Given the description of an element on the screen output the (x, y) to click on. 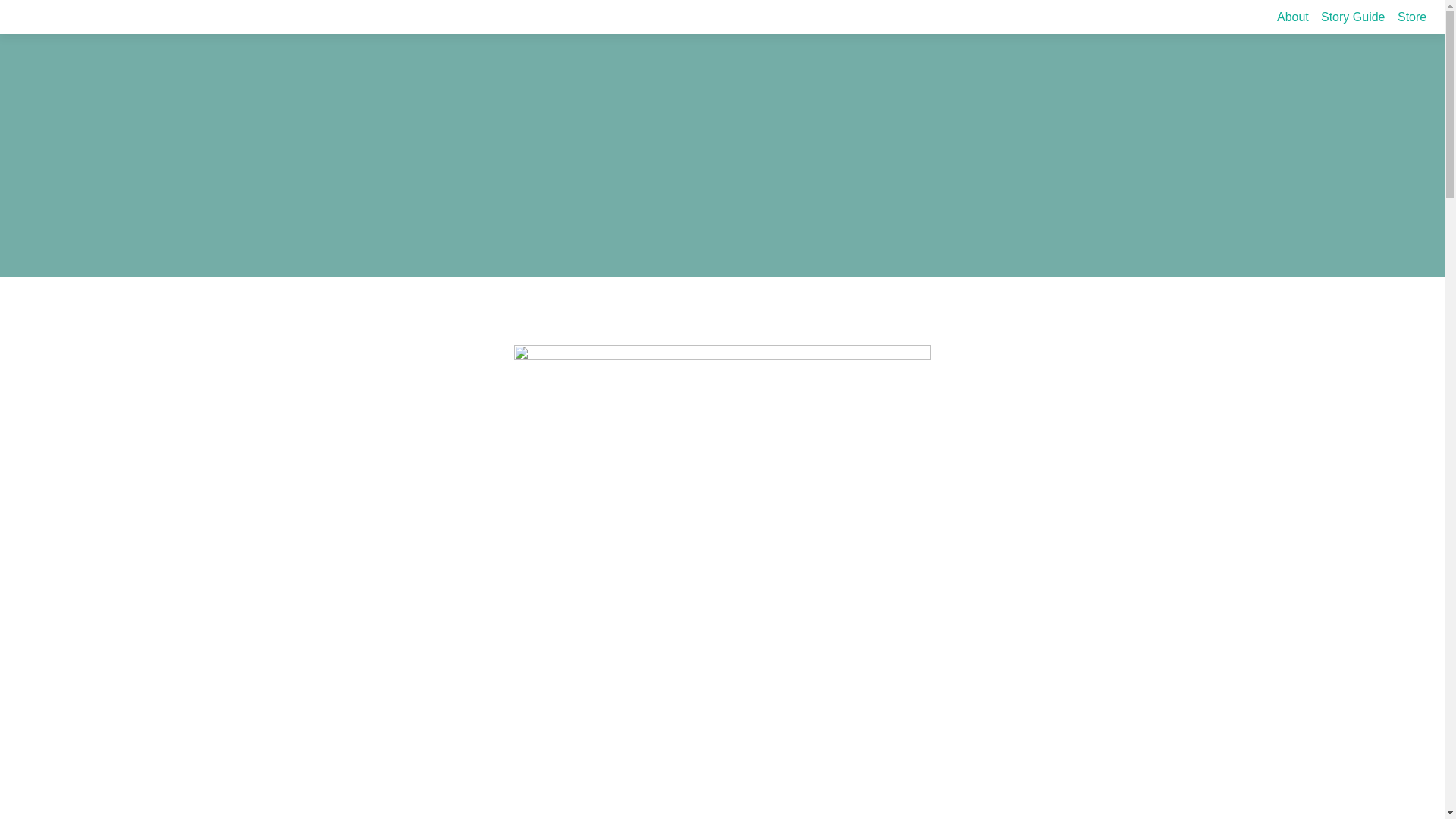
About (1292, 16)
Story Guide (1352, 16)
Store (1411, 16)
About (1292, 16)
Story Guide (1352, 16)
Store (1411, 16)
